Given the description of an element on the screen output the (x, y) to click on. 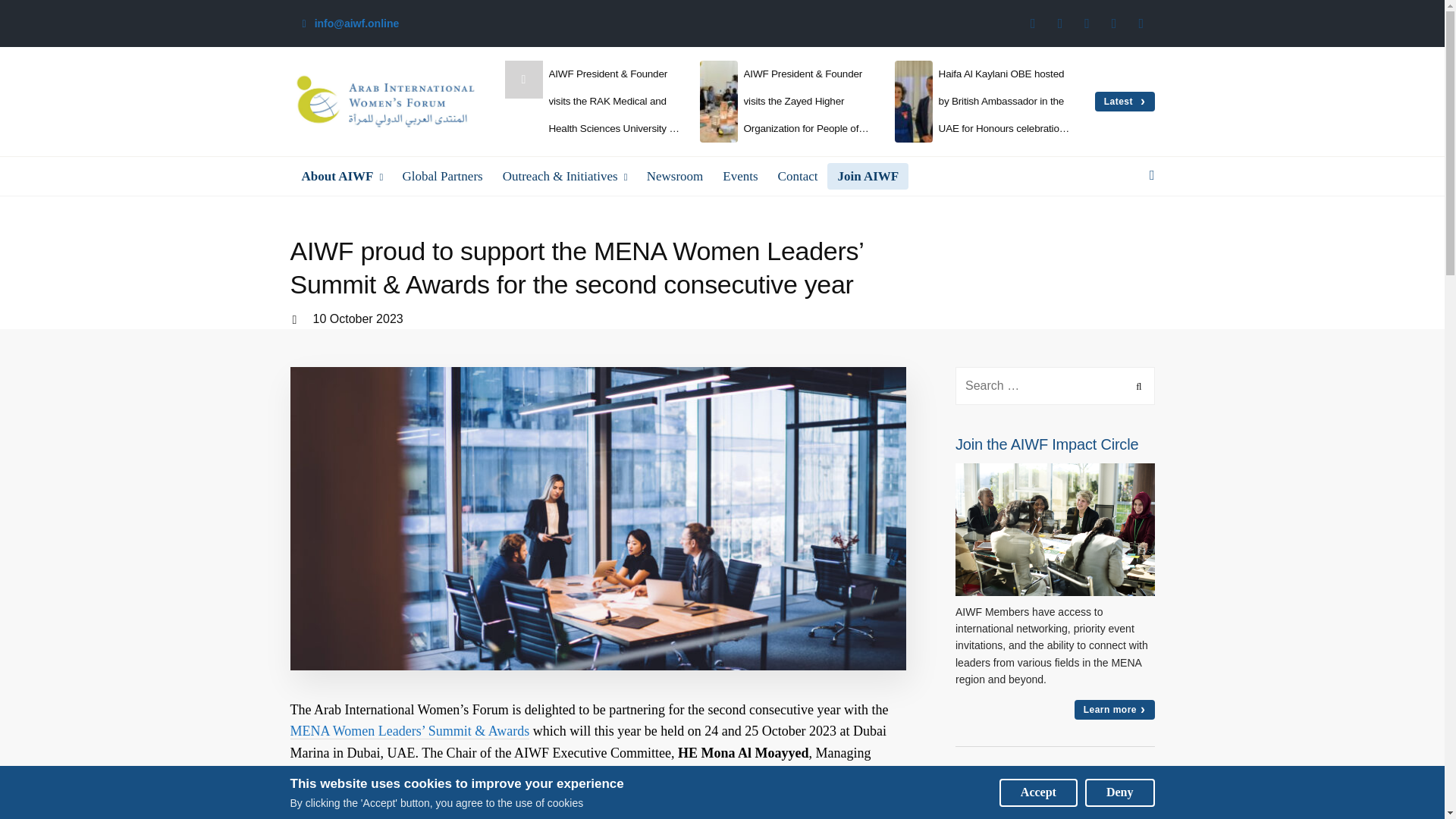
Search (1136, 385)
Instagram (1087, 24)
Contact (798, 175)
Twitter (1060, 24)
Youtube (1140, 24)
Search (1136, 385)
Global Partners (441, 175)
Join AIWF (867, 175)
Events (740, 175)
Newsroom (675, 175)
About AIWF (347, 175)
Facebook (1033, 24)
Linkedin (1113, 24)
